Given the description of an element on the screen output the (x, y) to click on. 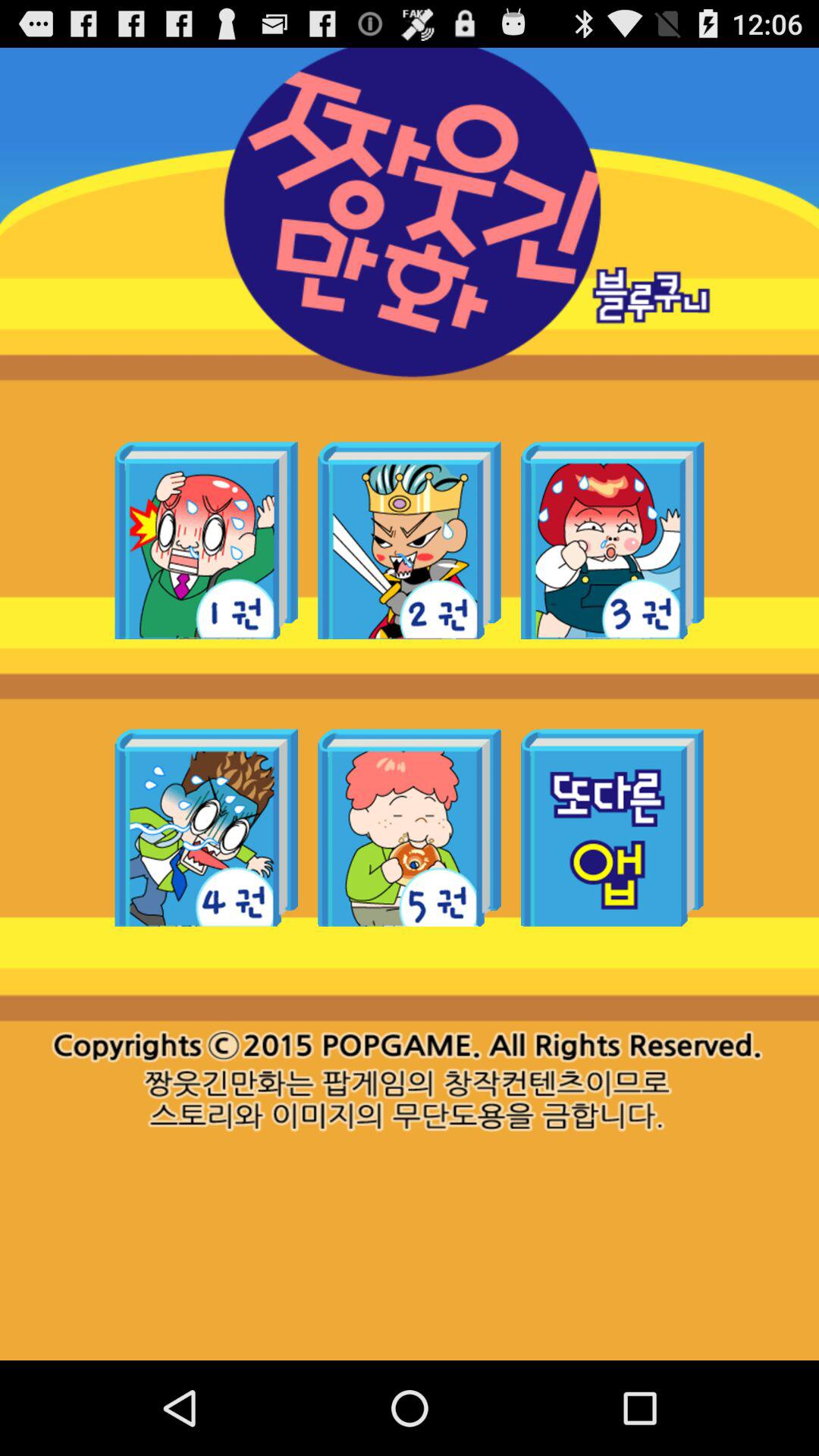
enter into the 5th book (409, 827)
